Given the description of an element on the screen output the (x, y) to click on. 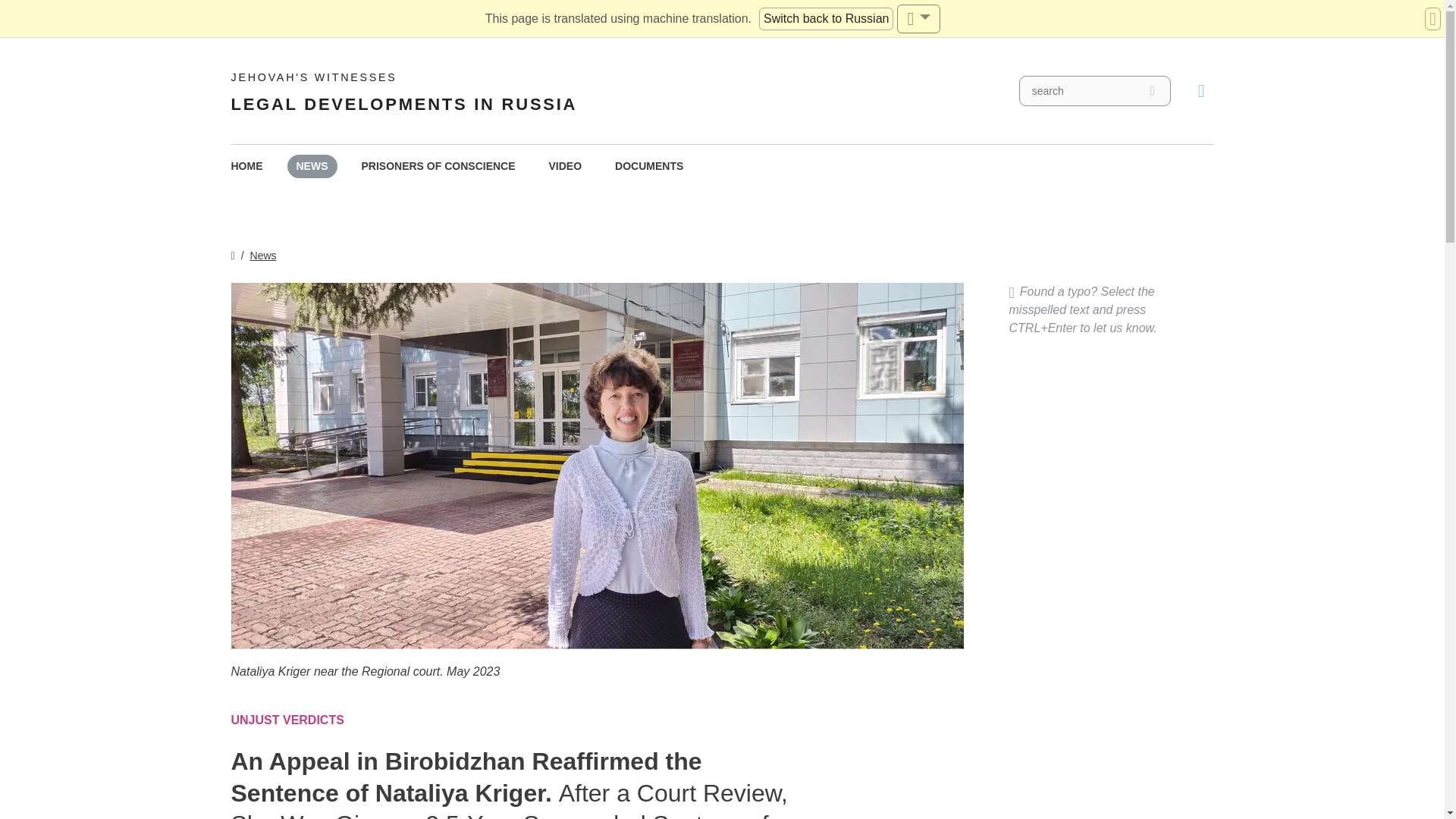
PRISONERS OF CONSCIENCE (438, 166)
VIDEO (565, 166)
HOME (245, 166)
NEWS (311, 166)
News (403, 90)
Switch back to Russian (263, 255)
DOCUMENTS (825, 18)
